Given the description of an element on the screen output the (x, y) to click on. 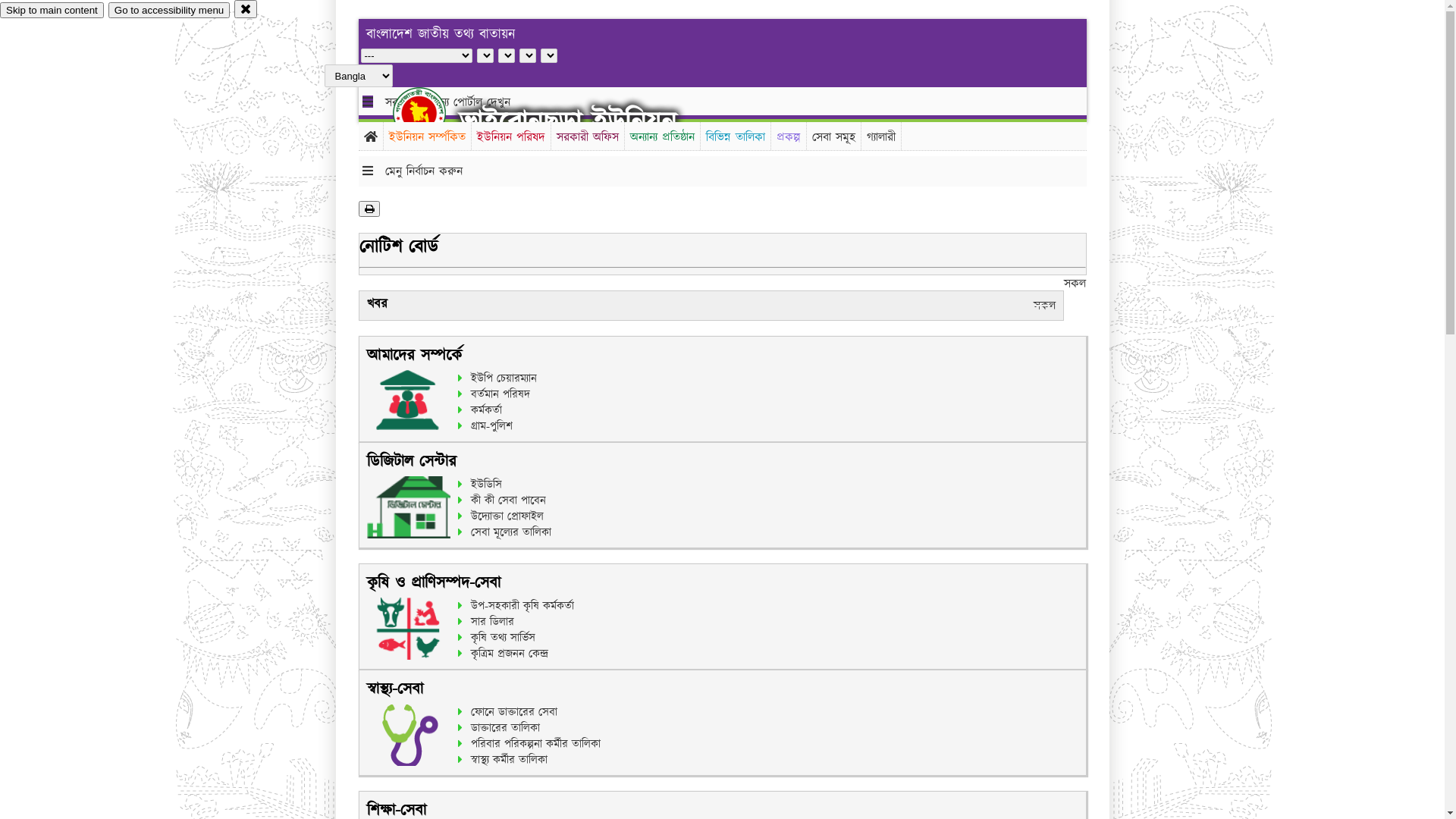
Skip to main content Element type: text (51, 10)
close Element type: hover (245, 9)

                
             Element type: hover (431, 112)
Go to accessibility menu Element type: text (168, 10)
